Given the description of an element on the screen output the (x, y) to click on. 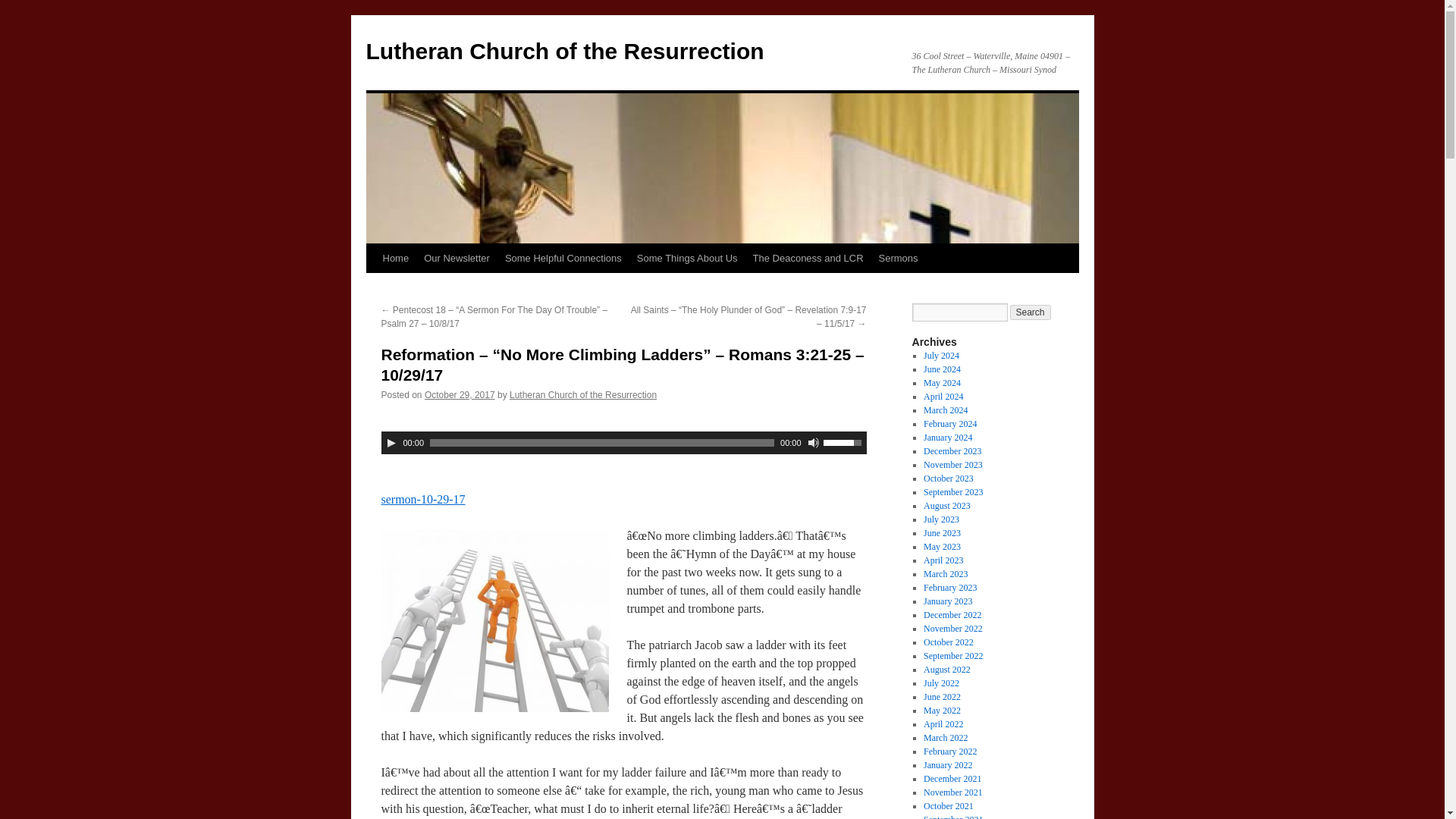
October 29, 2017 (460, 394)
sermon-10-29-17 (422, 499)
4:13 pm (460, 394)
Lutheran Church of the Resurrection (582, 394)
Some Helpful Connections (562, 258)
Sermons (898, 258)
Home (395, 258)
Play (391, 442)
Some Things About Us (686, 258)
Lutheran Church of the Resurrection (563, 50)
The Deaconess and LCR (807, 258)
View all posts by Lutheran Church of the Resurrection (582, 394)
Our Newsletter (456, 258)
Lutheran Church of the Resurrection (563, 50)
Search (1030, 312)
